Given the description of an element on the screen output the (x, y) to click on. 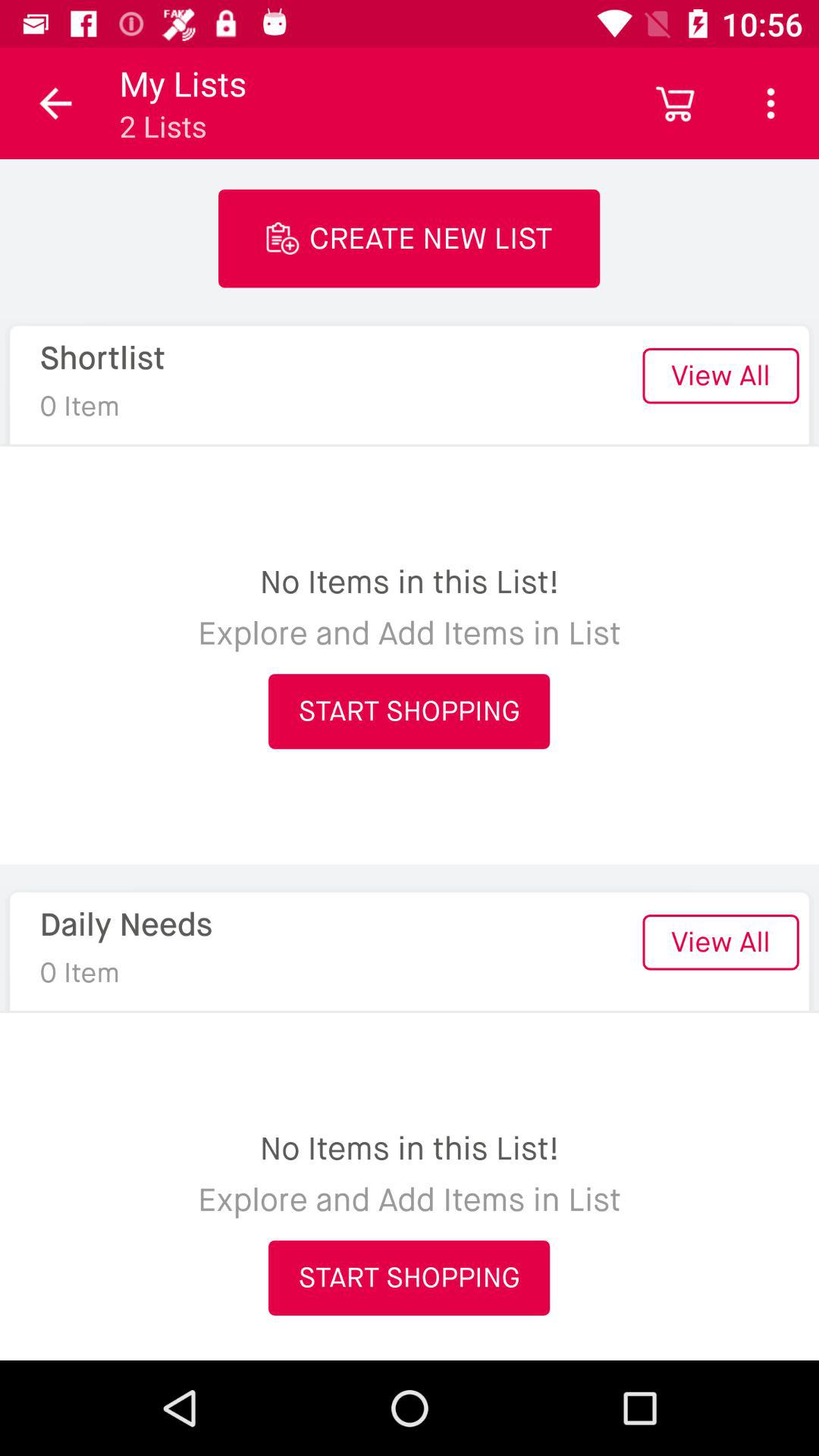
open the icon below my lists (409, 238)
